Given the description of an element on the screen output the (x, y) to click on. 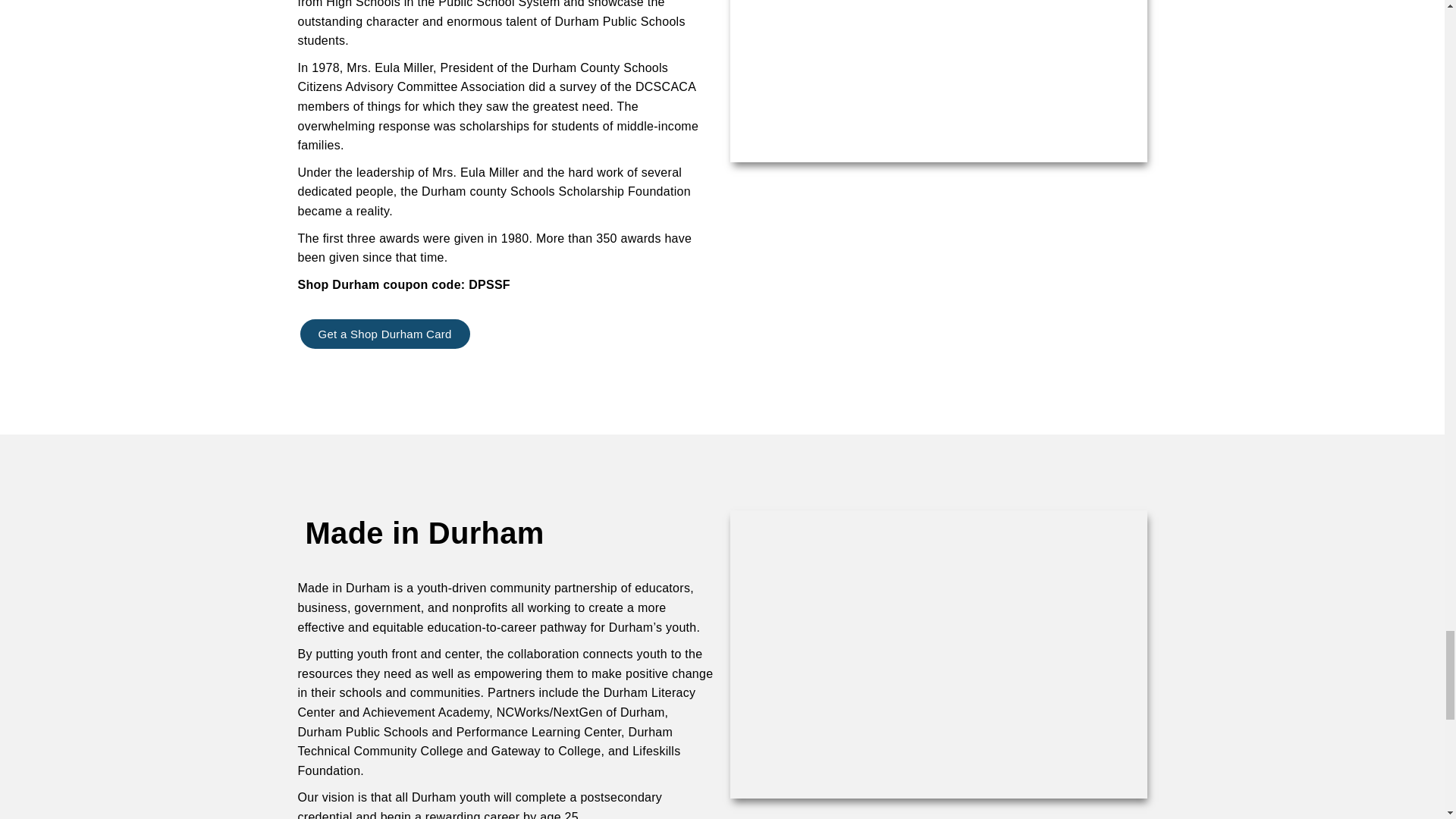
Made in Durham (423, 532)
Get a Shop Durham Card (384, 333)
Shop Durham coupon code:  (382, 284)
